Given the description of an element on the screen output the (x, y) to click on. 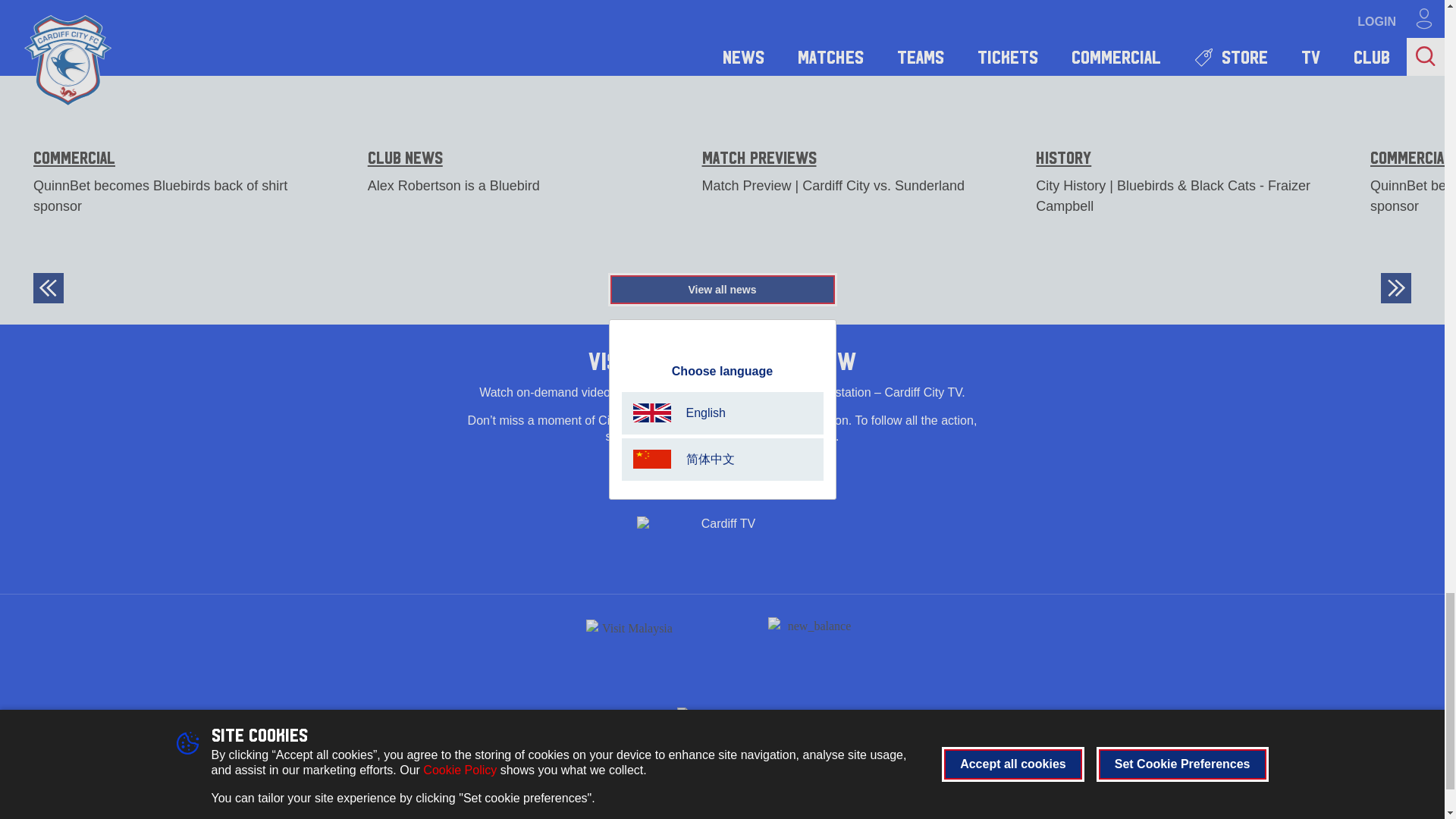
New Balance (813, 645)
Visit Malaysia (631, 645)
Nathaniel Cars (722, 713)
